Given the description of an element on the screen output the (x, y) to click on. 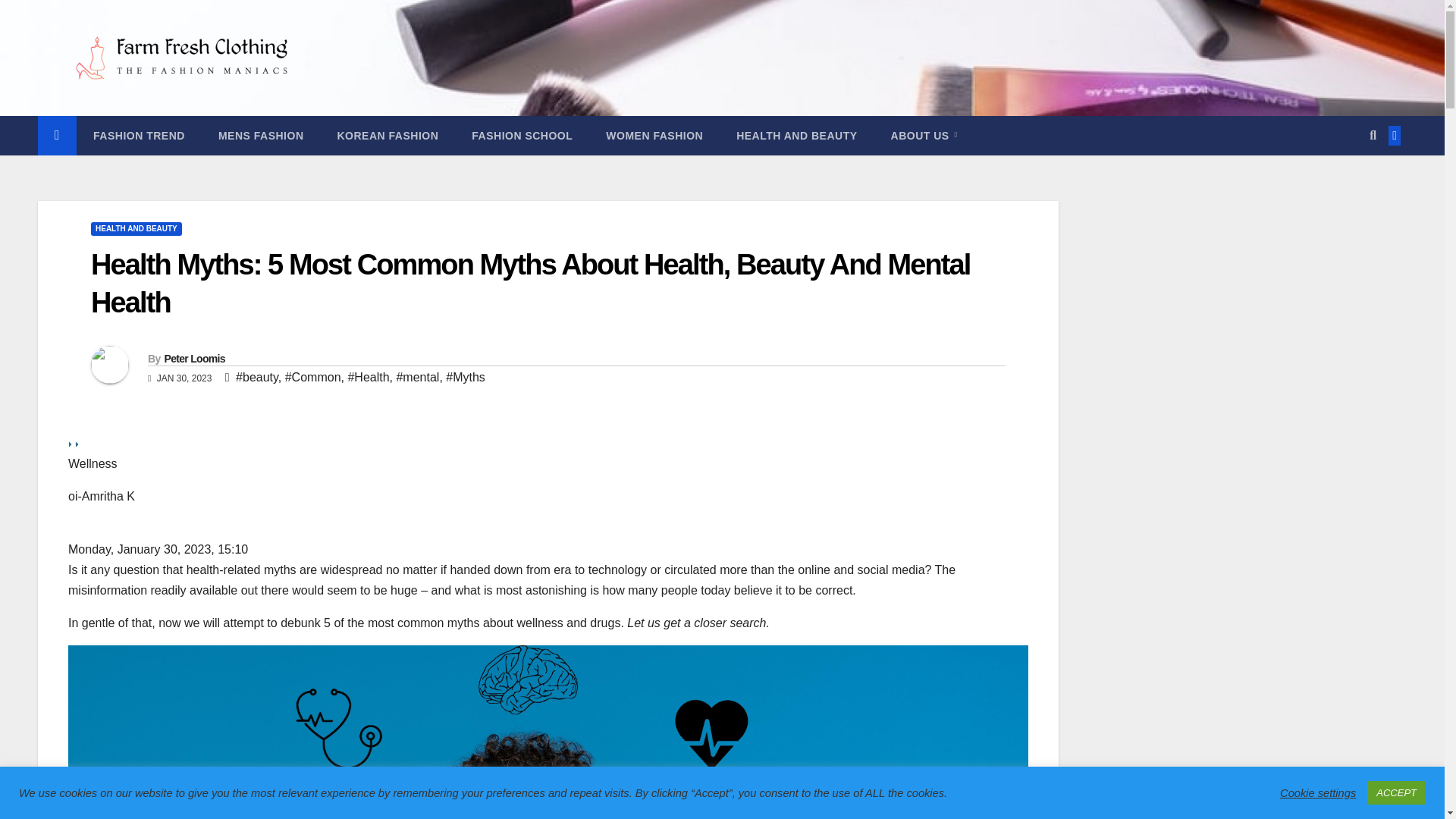
KOREAN FASHION (387, 135)
About Us (924, 135)
MENS FASHION (261, 135)
FASHION TREND (139, 135)
FASHION SCHOOL (521, 135)
ABOUT US (924, 135)
Fashion Trend (139, 135)
WOMEN FASHION (654, 135)
